Given the description of an element on the screen output the (x, y) to click on. 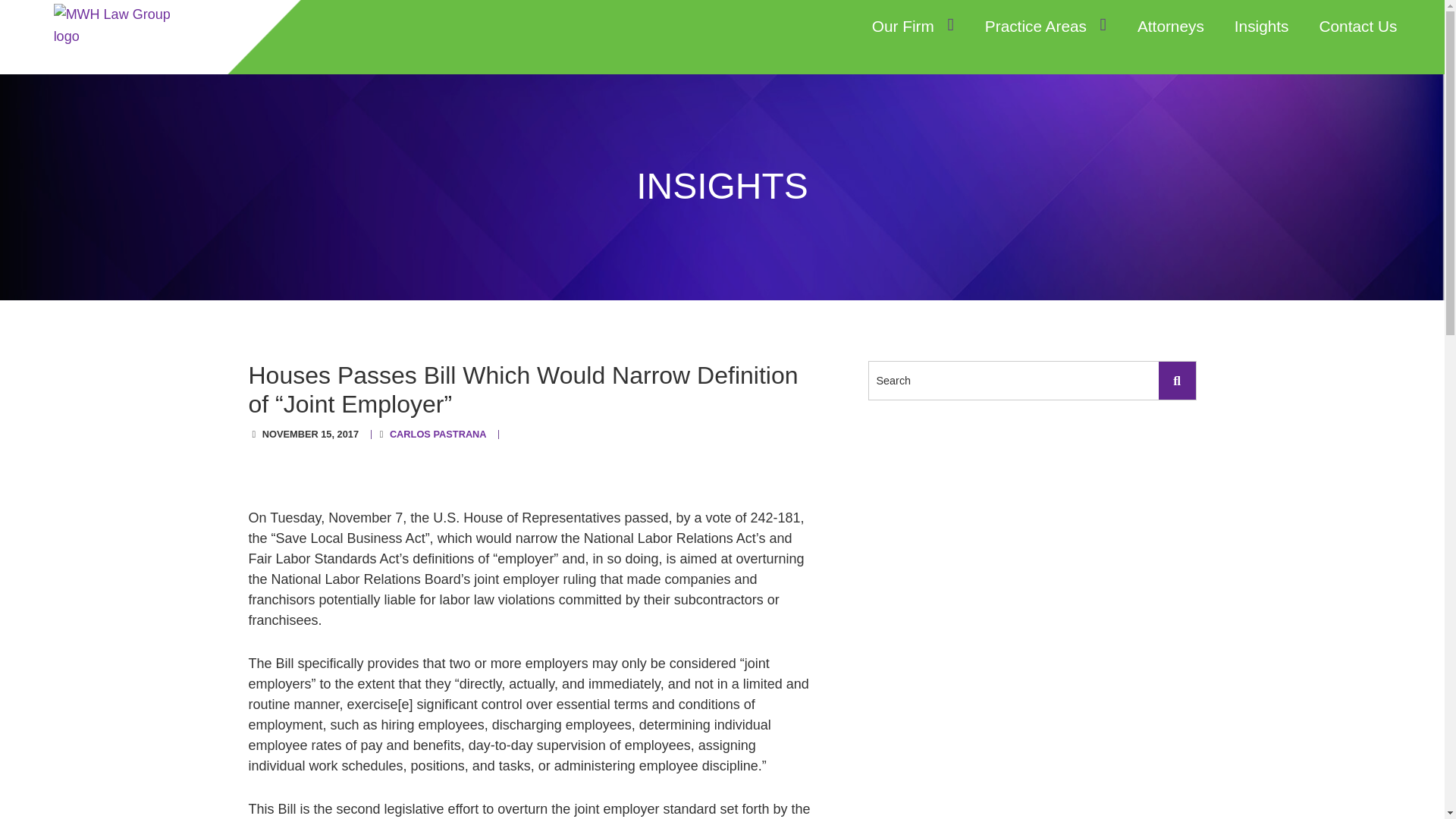
CARLOS PASTRANA (438, 433)
Attorneys (1170, 26)
Insights (1262, 26)
Contact Us (1358, 26)
Practice Areas (1045, 26)
Our Firm (913, 26)
